Given the description of an element on the screen output the (x, y) to click on. 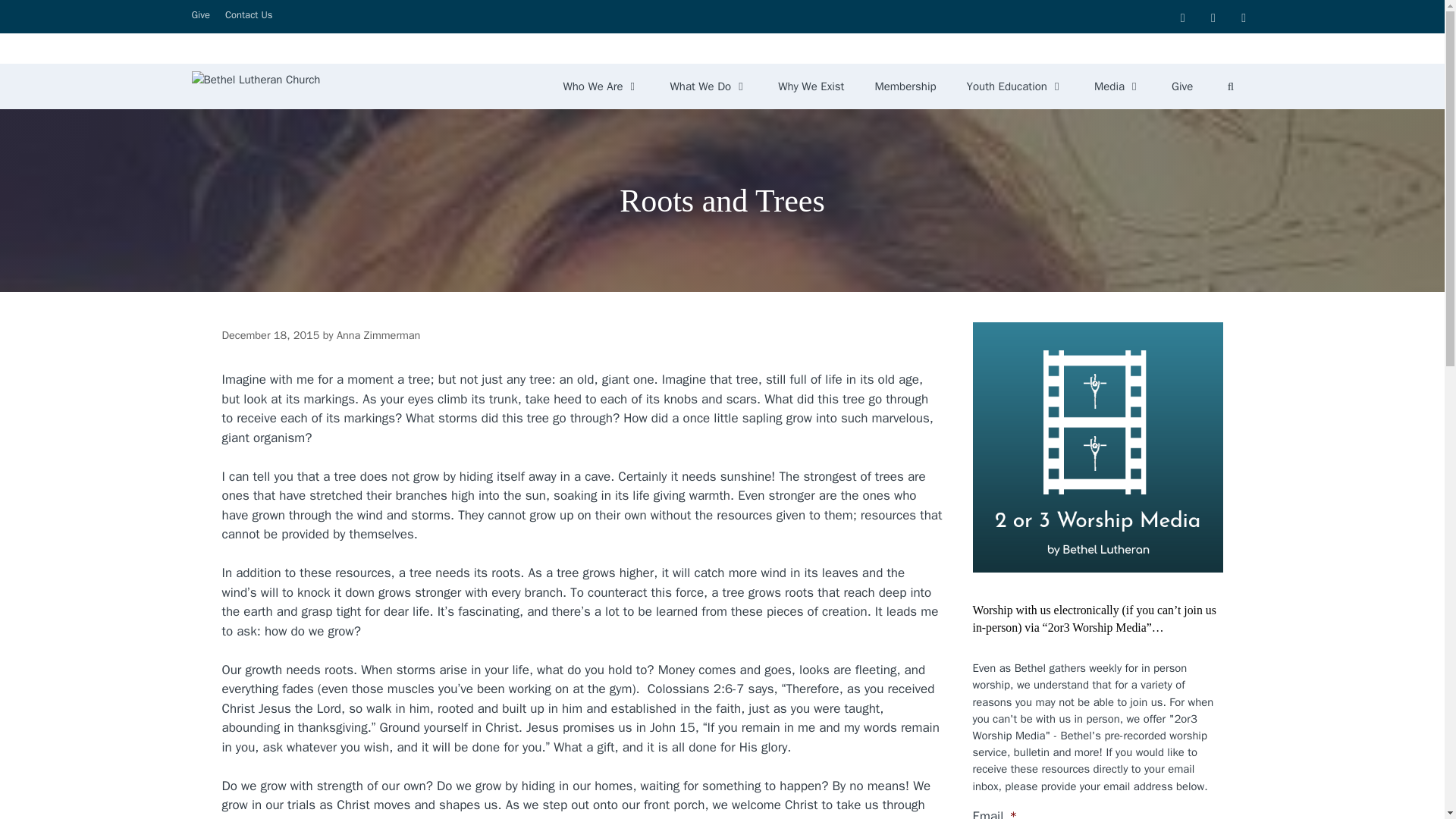
Give (199, 14)
Why We Exist (810, 85)
Media (1117, 85)
Membership (904, 85)
What We Do (708, 85)
Anna Zimmerman (378, 335)
Bethel Lutheran Church (255, 85)
View all posts by Anna Zimmerman (378, 335)
Contact Us (249, 14)
Give (1182, 85)
